Given the description of an element on the screen output the (x, y) to click on. 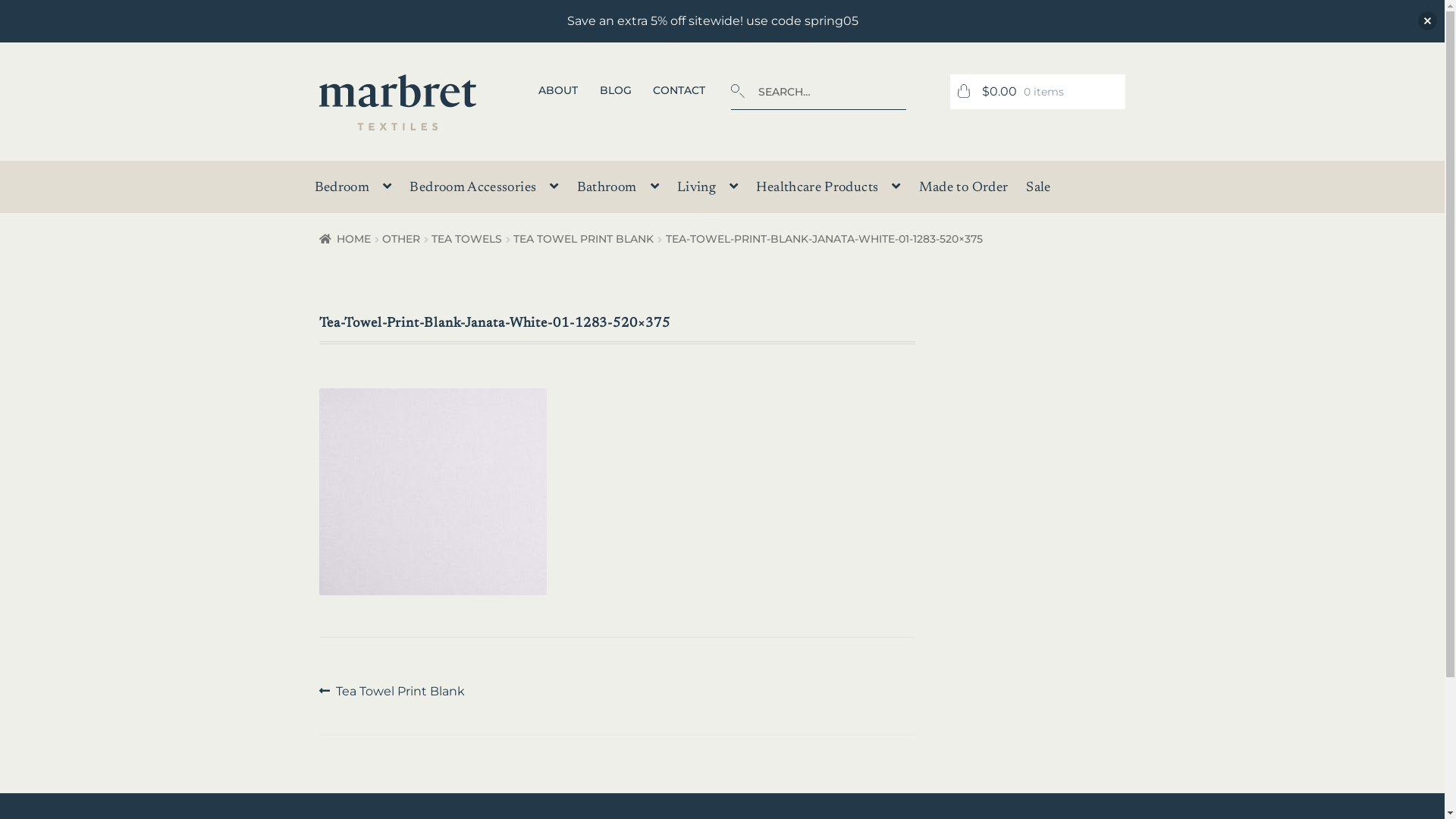
ABOUT Element type: text (558, 90)
Previous post:
Tea Towel Print Blank Element type: text (392, 691)
Living Element type: text (707, 190)
Bedroom Accessories Element type: text (483, 190)
HOME Element type: text (345, 238)
Sale Element type: text (1037, 191)
Bathroom Element type: text (617, 190)
Bedroom Element type: text (353, 190)
SEARCH Element type: text (730, 73)
TEA TOWELS Element type: text (466, 238)
BLOG Element type: text (615, 90)
$0.00 0 items Element type: text (1037, 91)
CONTACT Element type: text (679, 90)
Healthcare Products Element type: text (827, 190)
Skip to navigation Element type: text (318, 73)
OTHER Element type: text (401, 238)
Made to Order Element type: text (963, 191)
TEA TOWEL PRINT BLANK Element type: text (583, 238)
